Given the description of an element on the screen output the (x, y) to click on. 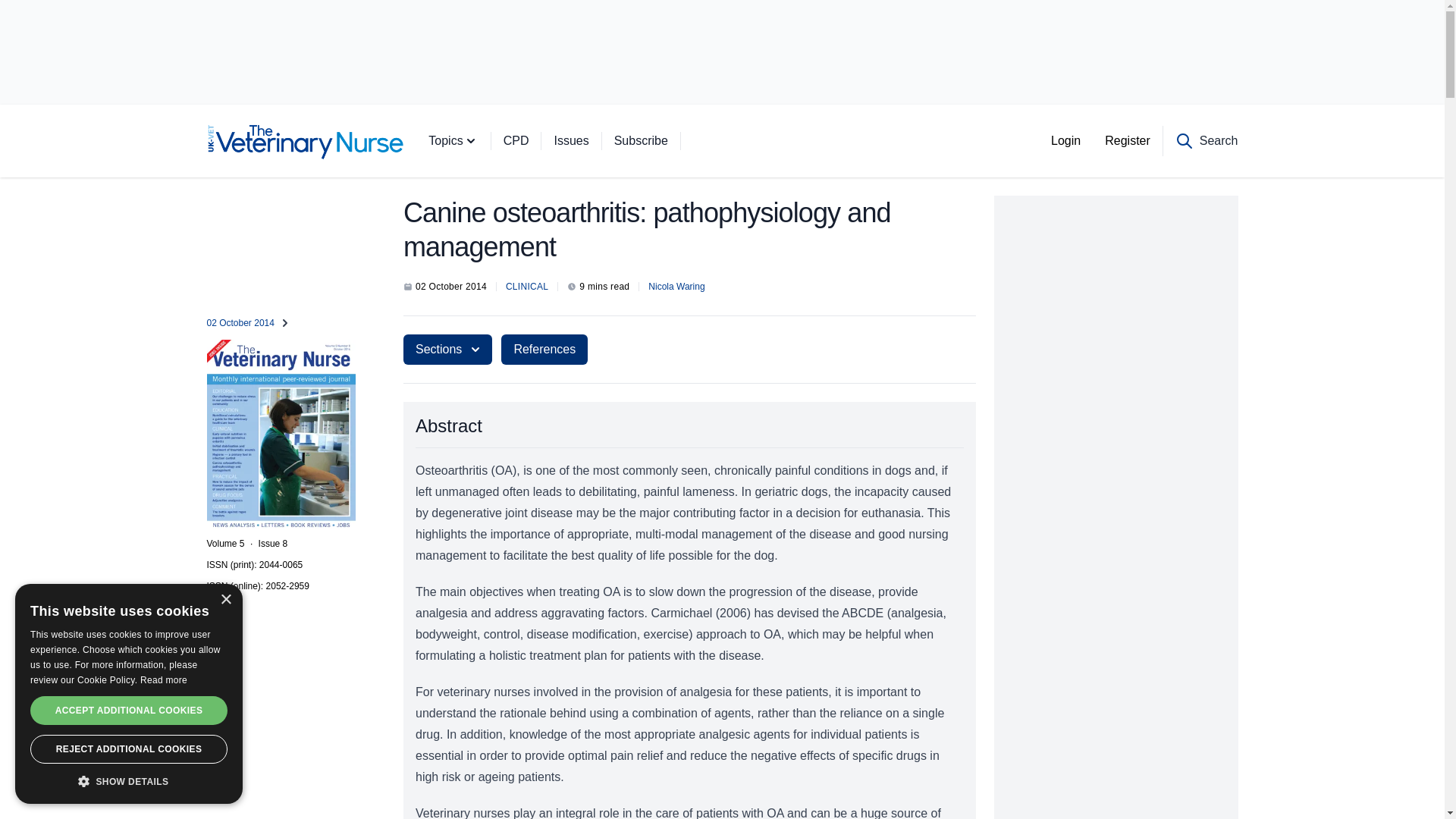
Login (1066, 141)
CPD (528, 141)
CLINICAL (526, 286)
Issues (582, 141)
02 October 2014 (280, 322)
3rd party ad content (1116, 289)
Search (1206, 141)
Sections (447, 349)
Register (1127, 141)
3rd party ad content (721, 52)
Subscribe (653, 141)
Nicola Waring (675, 286)
Topics (465, 141)
References (544, 349)
